Given the description of an element on the screen output the (x, y) to click on. 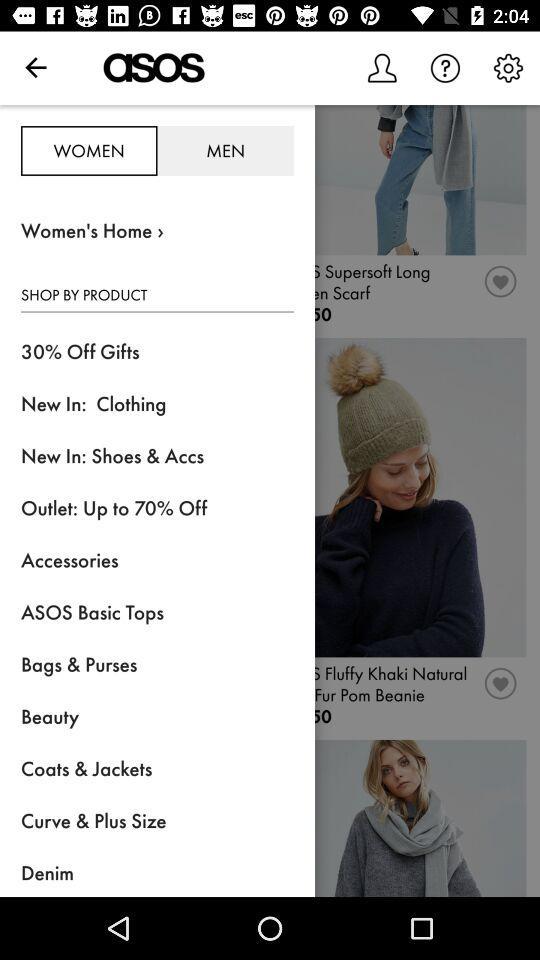
select the favorites icon which is below the first image (501, 288)
